Given the description of an element on the screen output the (x, y) to click on. 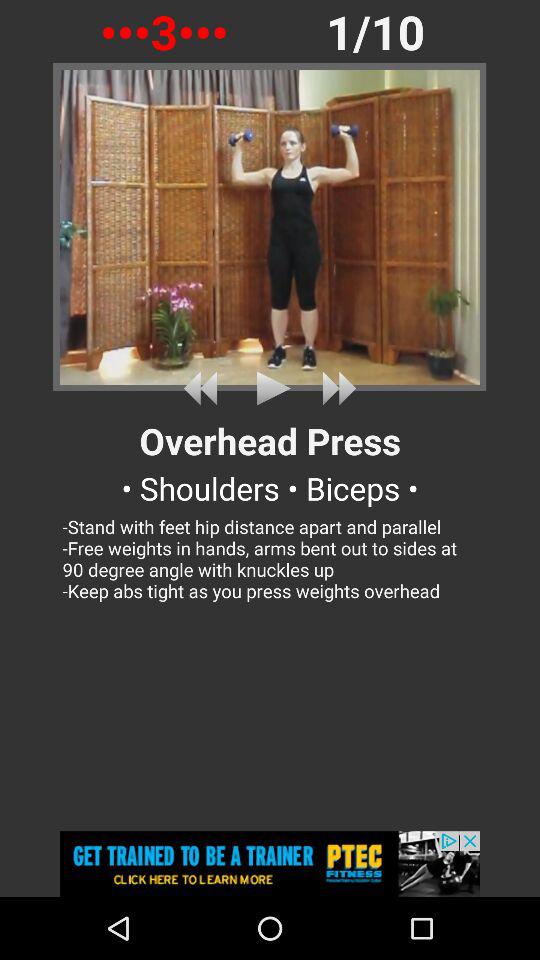
advance the video (335, 388)
